Given the description of an element on the screen output the (x, y) to click on. 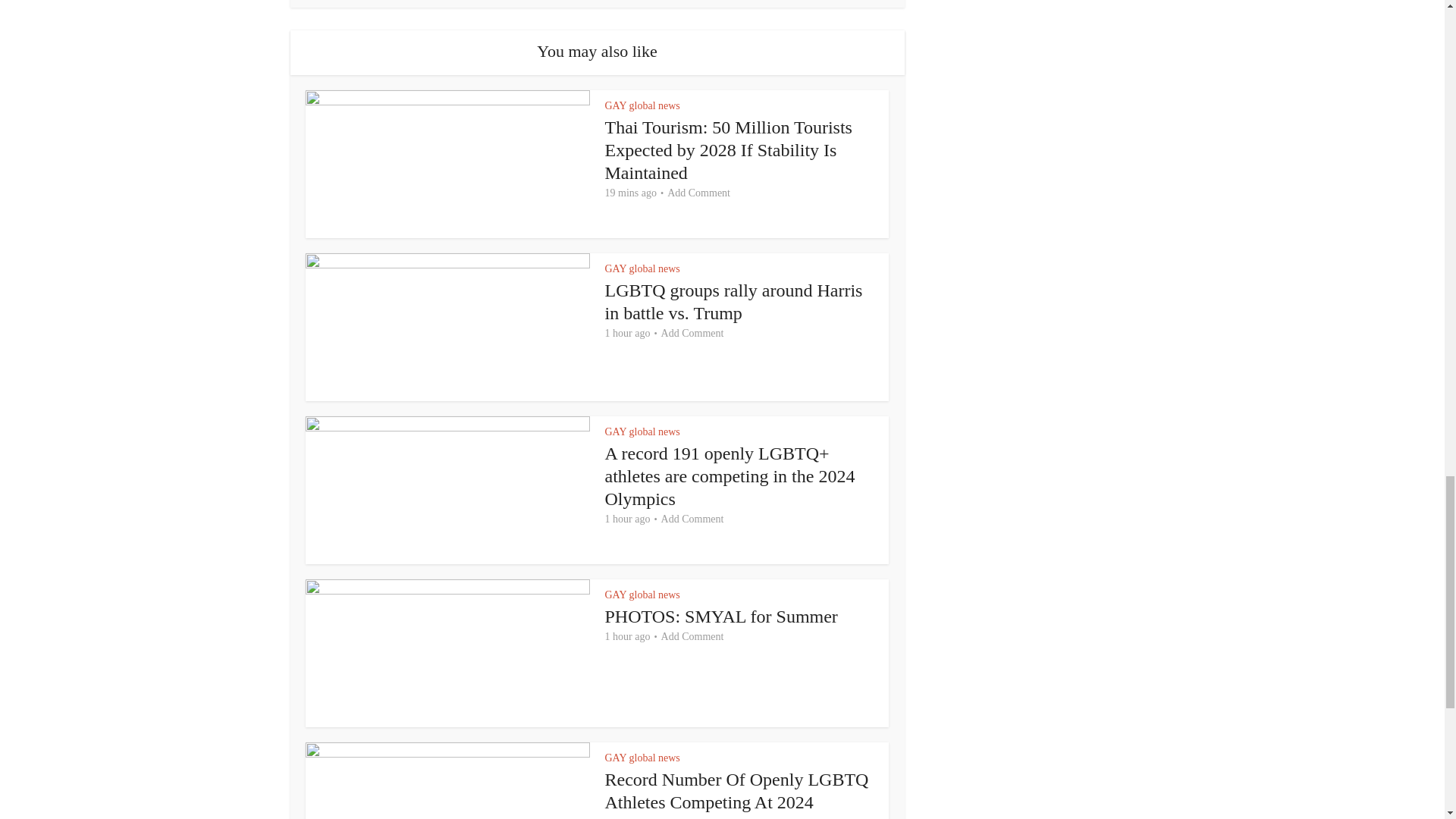
LGBTQ groups rally around Harris in battle vs. Trump (734, 301)
PHOTOS: SMYAL for Summer (721, 616)
GAY global news (642, 105)
